Given the description of an element on the screen output the (x, y) to click on. 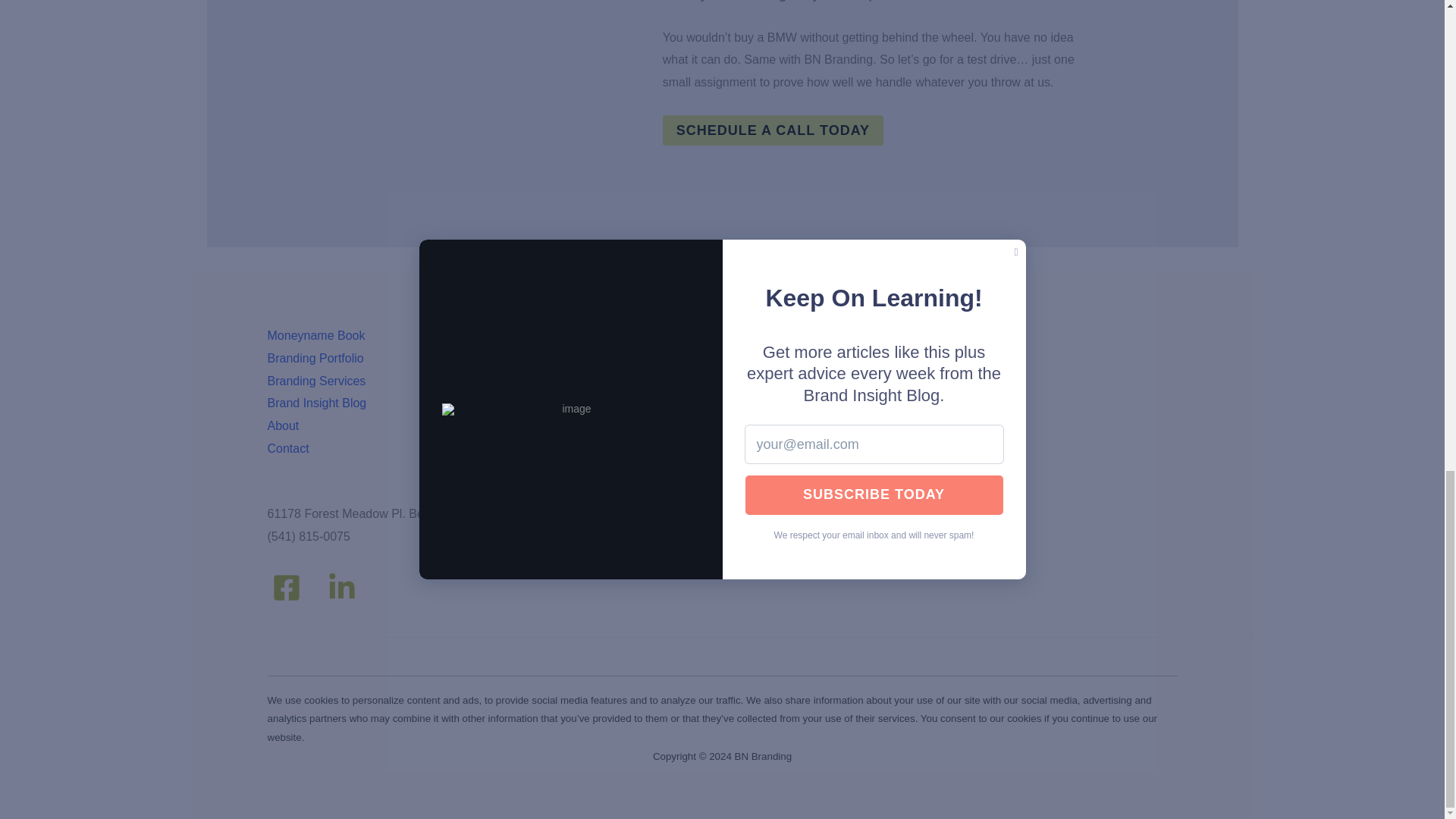
Moneyname Book (315, 335)
SCHEDULE A CALL TODAY (772, 130)
Brand Insight Blog (316, 402)
Branding Portfolio (314, 358)
Branding Services (315, 379)
